Given the description of an element on the screen output the (x, y) to click on. 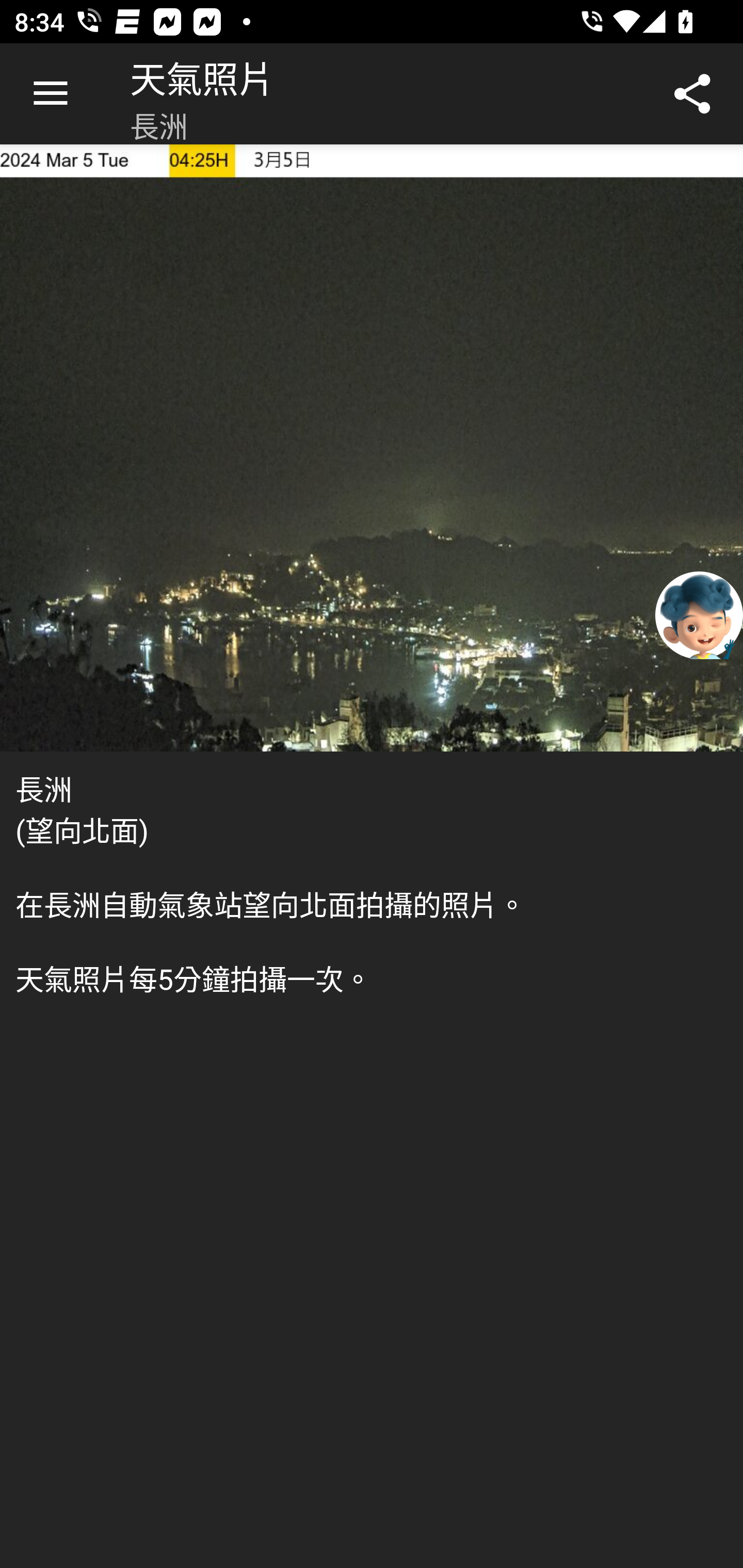
向上瀏覽 (50, 93)
分享 (692, 93)
聊天機械人 (699, 614)
